Given the description of an element on the screen output the (x, y) to click on. 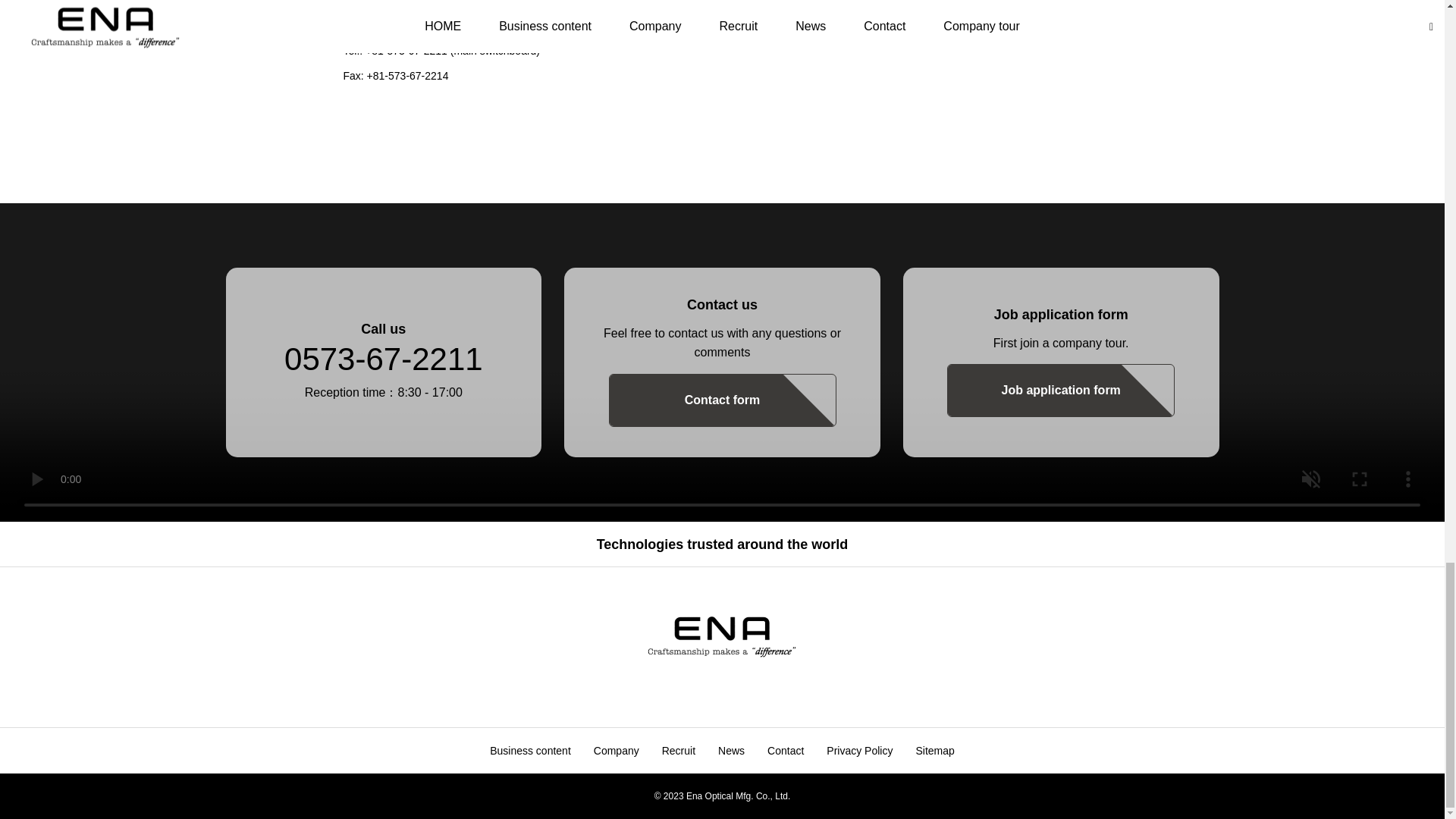
Contact form (721, 399)
Job application form (1060, 389)
Ena Optical Mfg. Co., Ltd. (721, 635)
0573-67-2211 (383, 359)
